Given the description of an element on the screen output the (x, y) to click on. 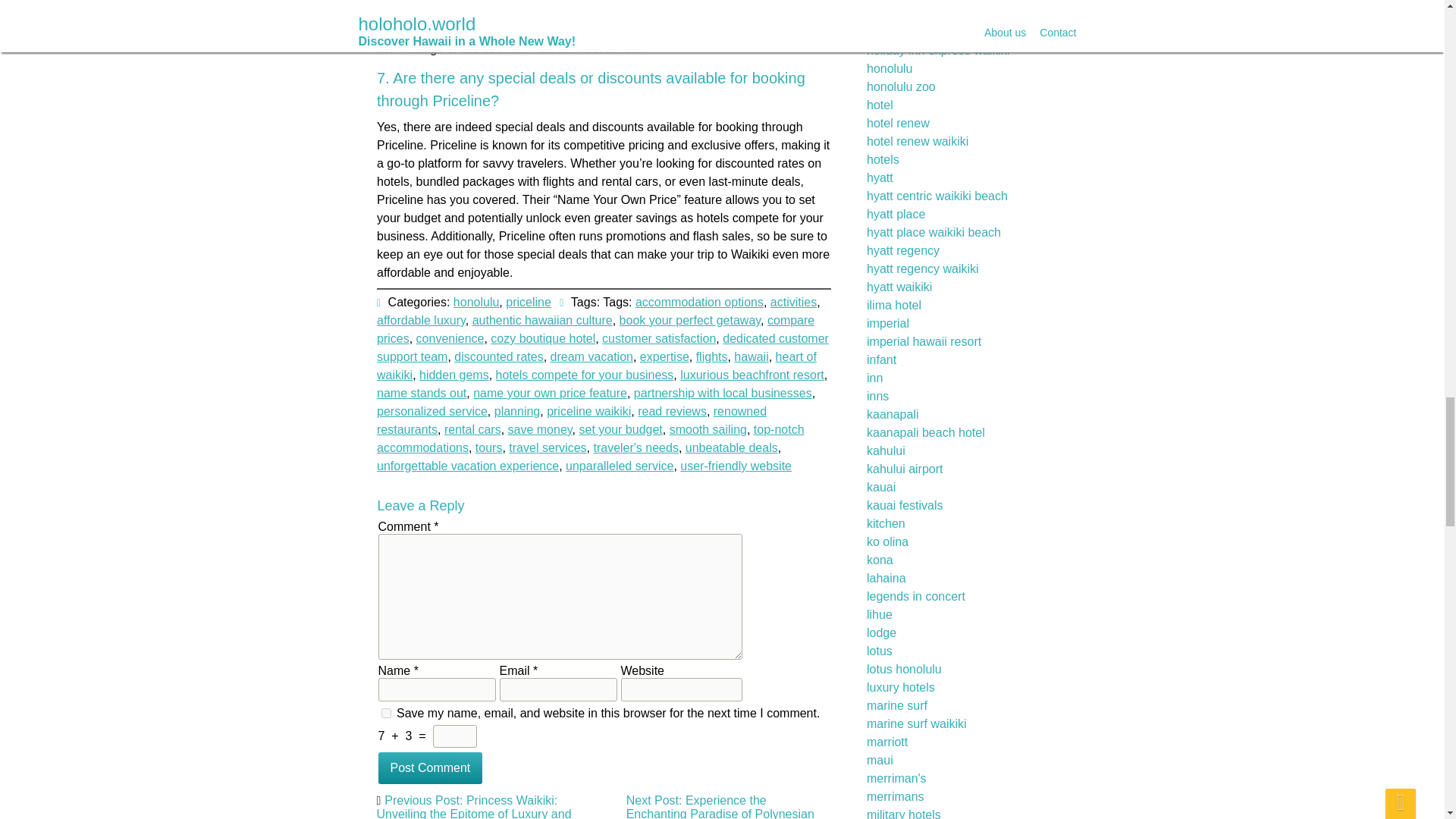
cozy boutique hotel (551, 244)
accommodation options (692, 80)
customer satisfaction (659, 253)
discounted rates (505, 295)
luxurious beachfront resort (750, 364)
yes (385, 713)
partnership with local businesses (721, 389)
hawaii (747, 329)
Post Comment (429, 767)
expertise (663, 308)
book your perfect getaway (687, 184)
name your own price feature (550, 387)
convenience (466, 223)
heart of waikiki (600, 343)
flights (709, 319)
